Given the description of an element on the screen output the (x, y) to click on. 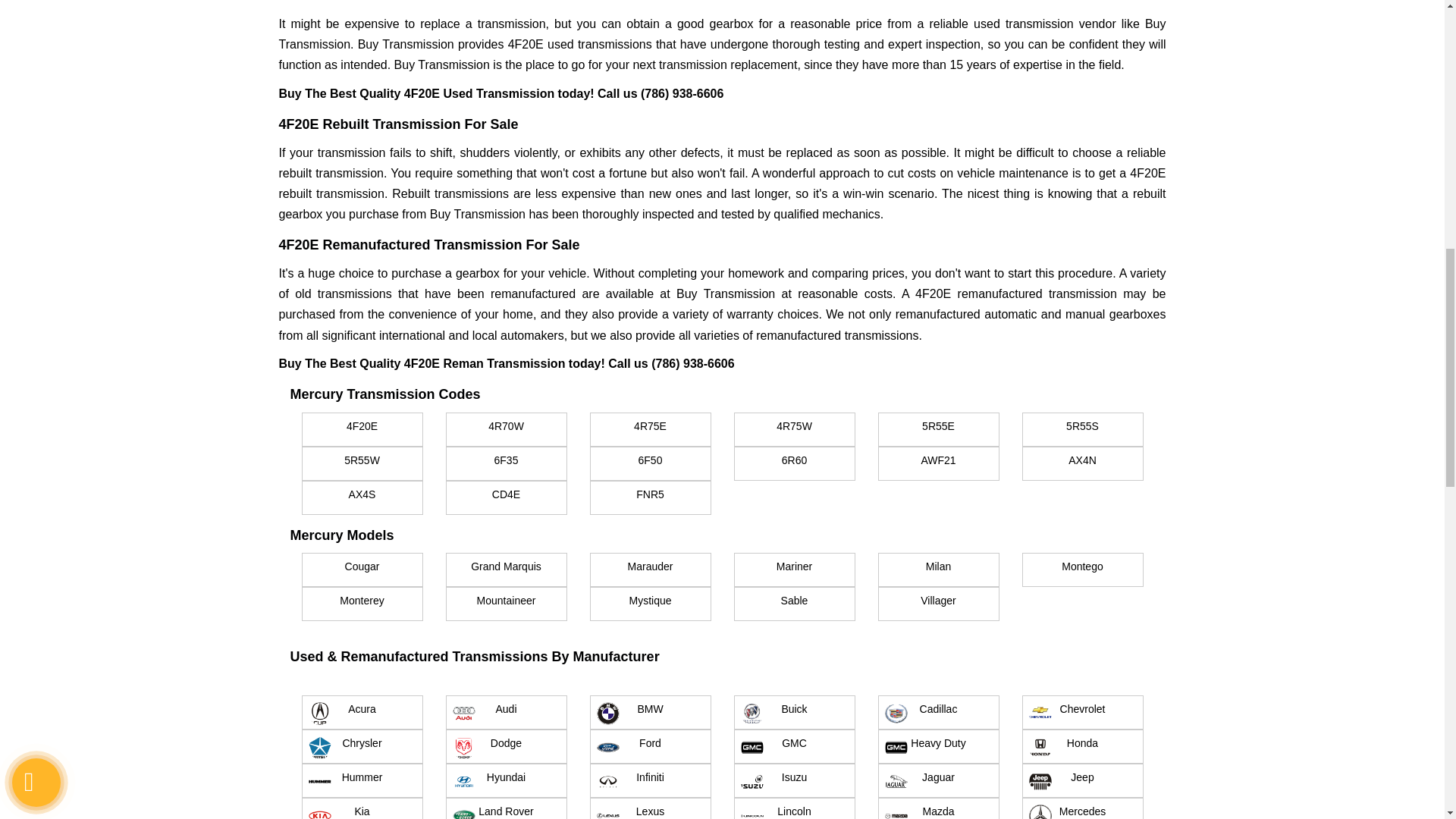
4R70W (506, 429)
Milan (937, 569)
Grand Marquis (506, 569)
AX4N (1082, 463)
Cougar (362, 569)
4R75E (650, 429)
CD4E (506, 497)
5R55E (937, 429)
FNR5 (650, 497)
6F50 (650, 463)
